Given the description of an element on the screen output the (x, y) to click on. 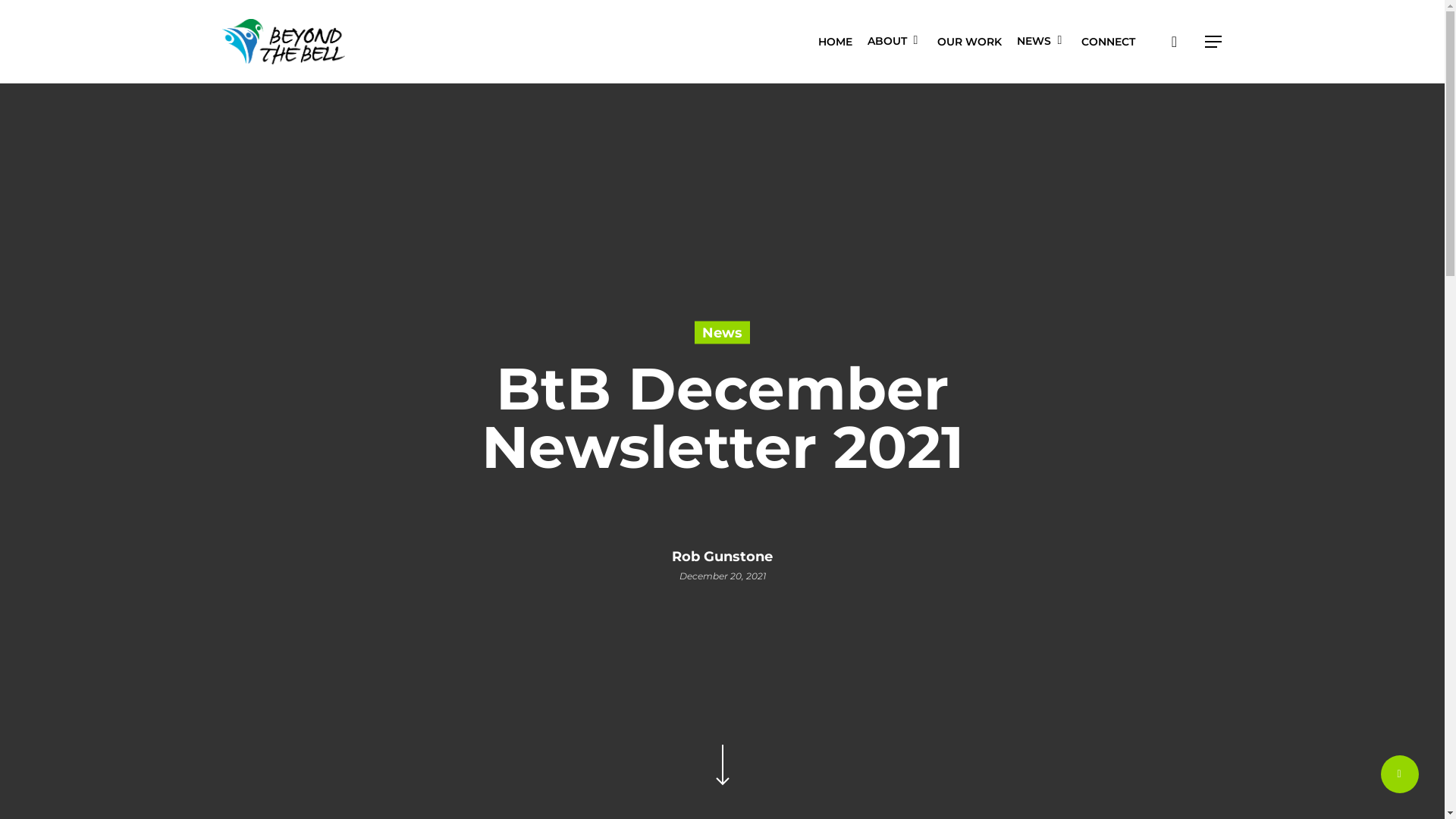
News Element type: text (721, 331)
ABOUT Element type: text (894, 41)
CONNECT Element type: text (1108, 41)
OUR WORK Element type: text (969, 41)
Menu Element type: text (1213, 41)
HOME Element type: text (834, 41)
Rob Gunstone Element type: text (721, 555)
NEWS Element type: text (1040, 41)
search Element type: text (1173, 41)
